Given the description of an element on the screen output the (x, y) to click on. 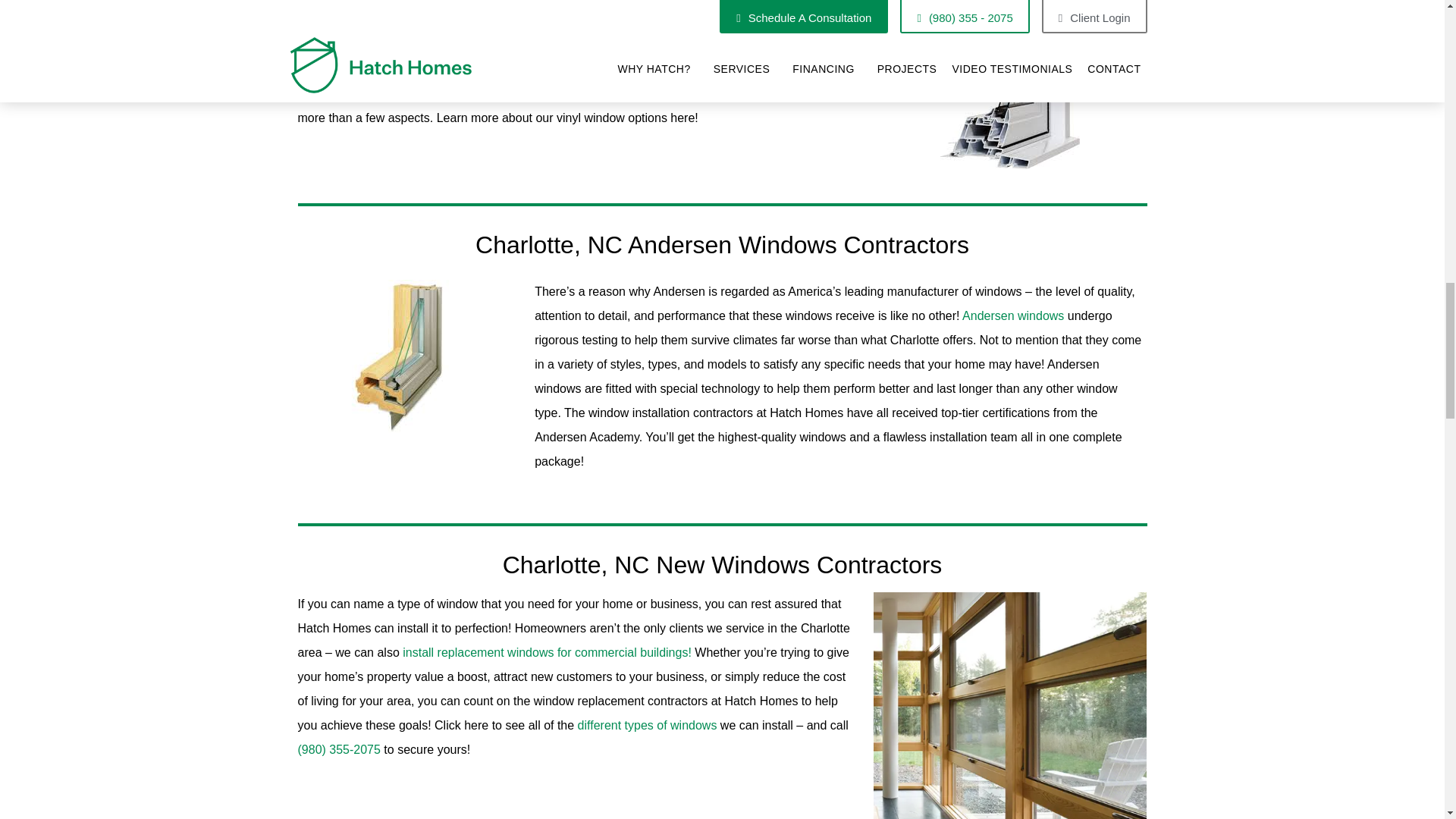
New Window Installation Section (1010, 705)
